Given the description of an element on the screen output the (x, y) to click on. 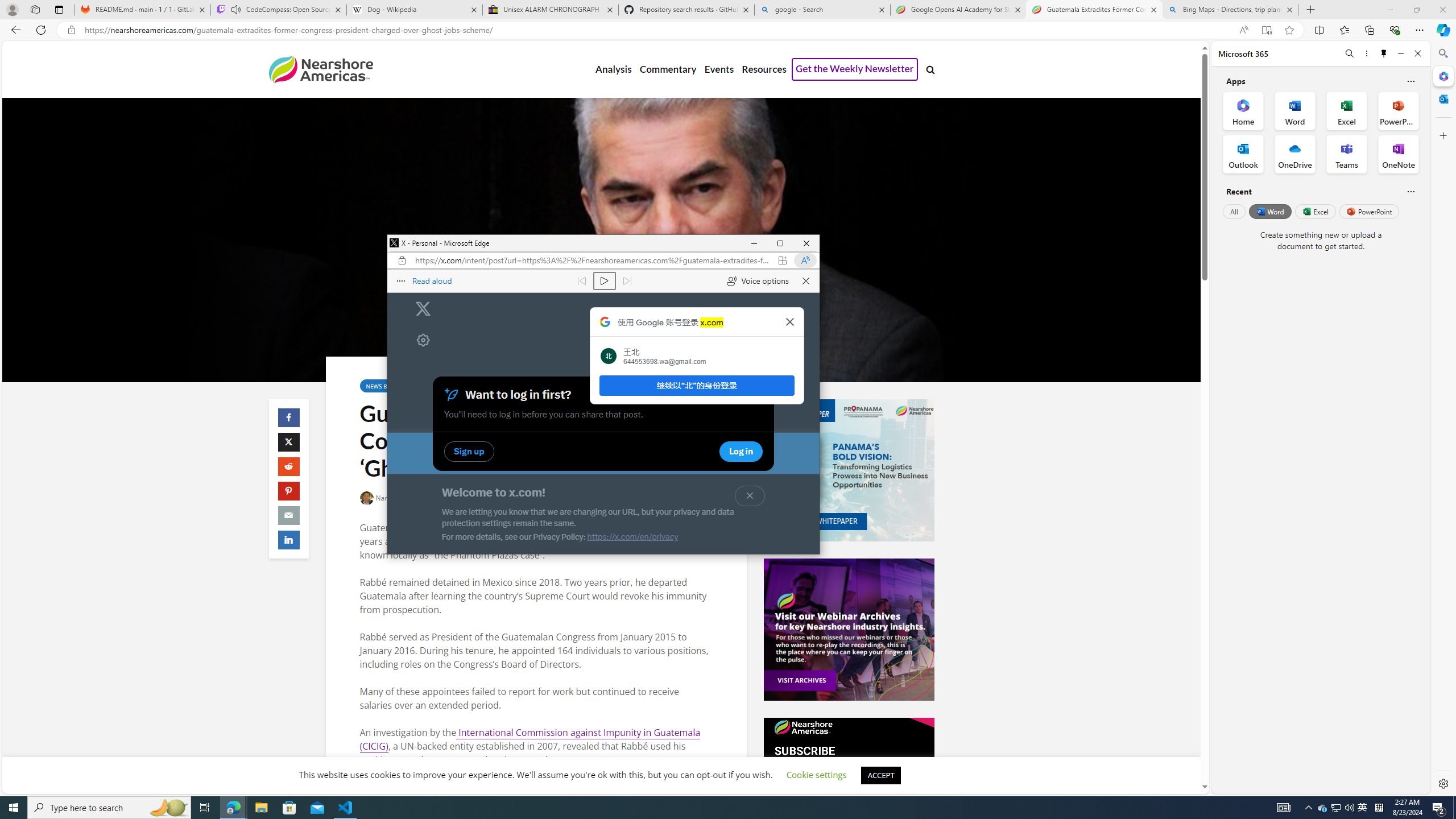
Teams Office App (1346, 154)
Excel Office App (1346, 110)
Sign up (739, 453)
